Given the description of an element on the screen output the (x, y) to click on. 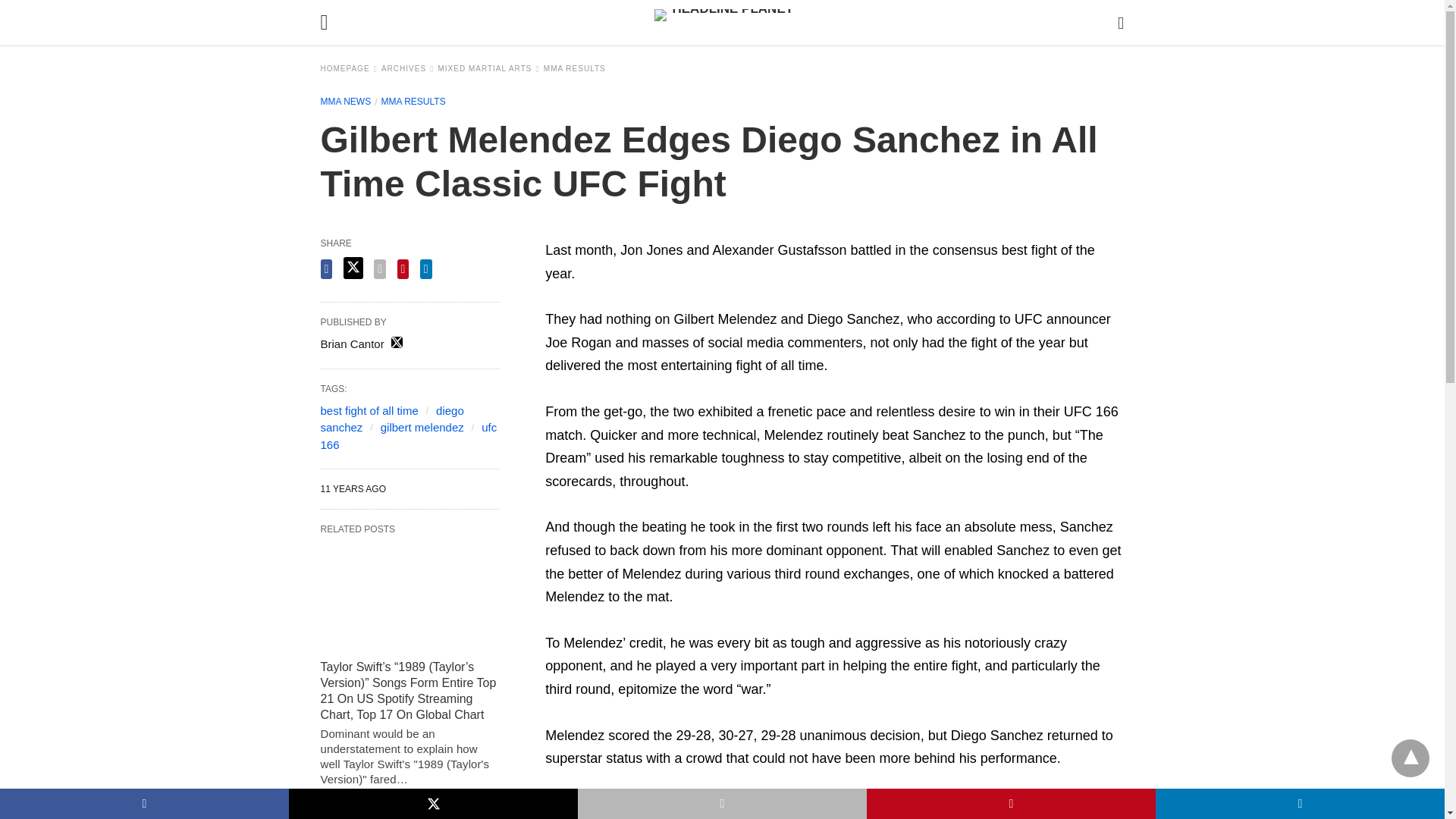
best fight of all time (368, 409)
best fight of all time (368, 409)
ufc 166 (408, 435)
MIXED MARTIAL ARTS (488, 68)
MMA RESULTS (413, 101)
Archives (407, 68)
Homepage (348, 68)
gilbert melendez (422, 427)
MMA Results (413, 101)
Headline Planet (725, 22)
